Given the description of an element on the screen output the (x, y) to click on. 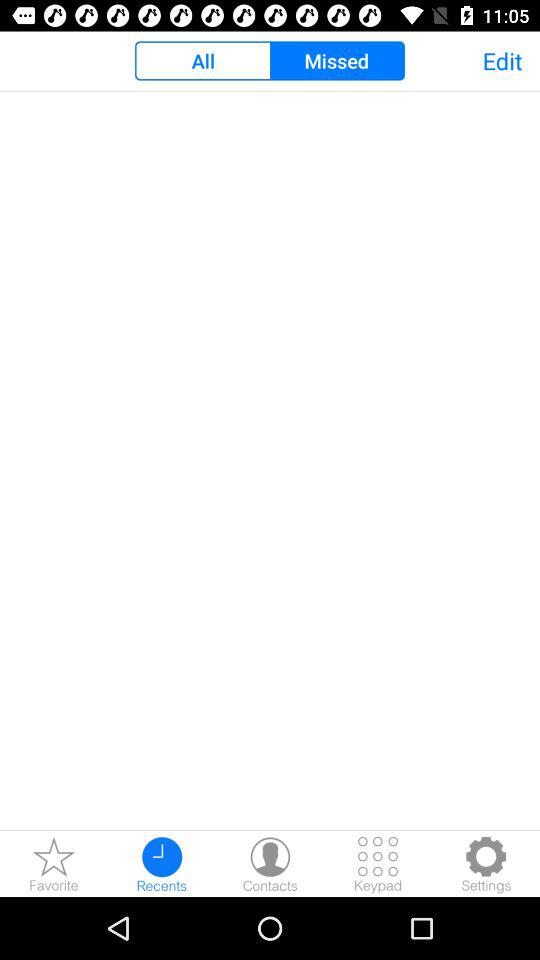
it is used for typing (377, 864)
